Given the description of an element on the screen output the (x, y) to click on. 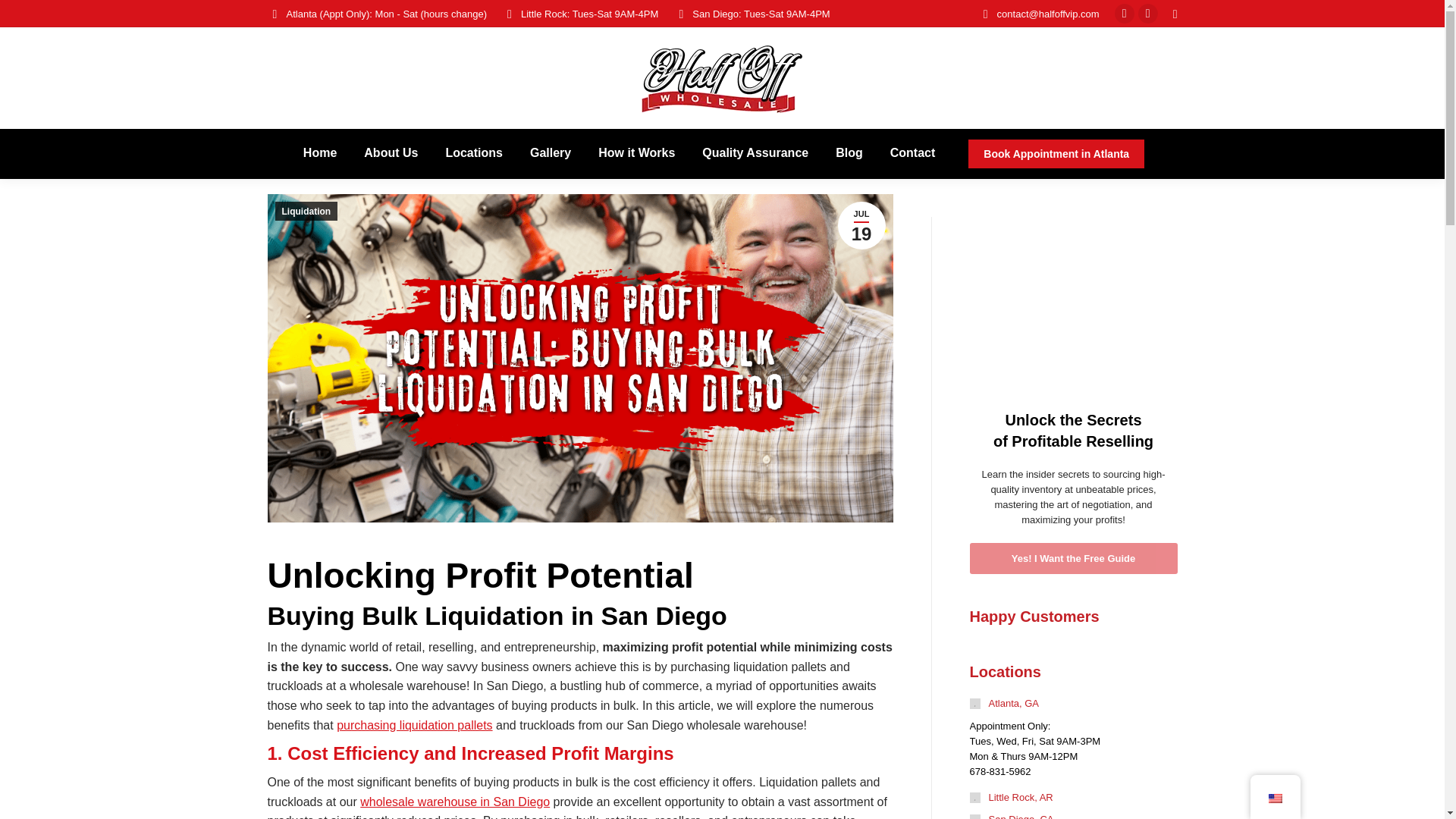
Facebook page opens in new window (1124, 13)
Blog (849, 153)
About Us (390, 153)
Little Rock: Tues-Sat 9AM-4PM (580, 12)
Home (319, 153)
Instagram page opens in new window (1147, 13)
Instagram page opens in new window (1147, 13)
San Diego: Tues-Sat 9AM-4PM (750, 12)
1:49 pm (861, 225)
